Given the description of an element on the screen output the (x, y) to click on. 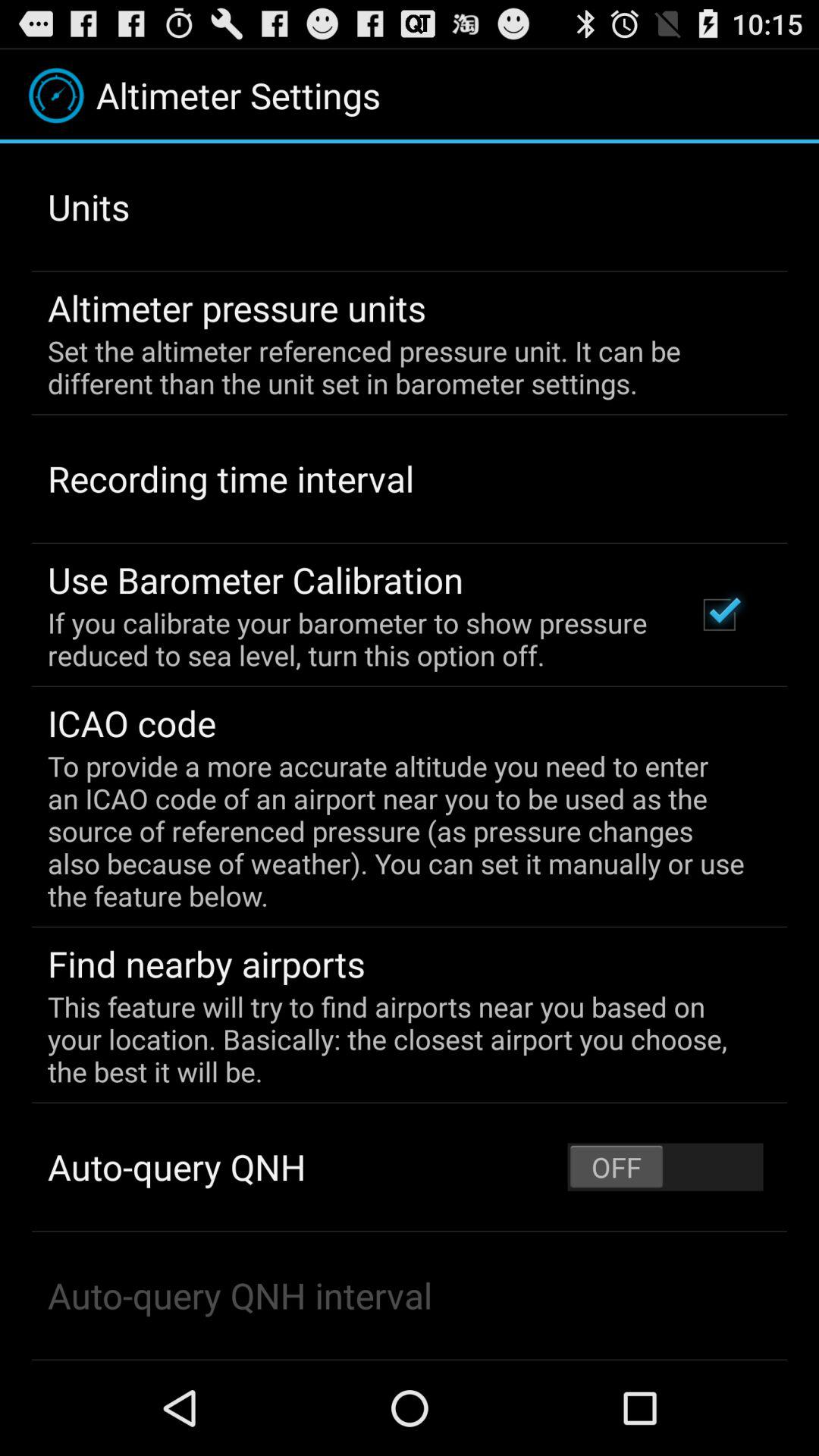
select the icon next to the auto-query qnh app (665, 1166)
